Given the description of an element on the screen output the (x, y) to click on. 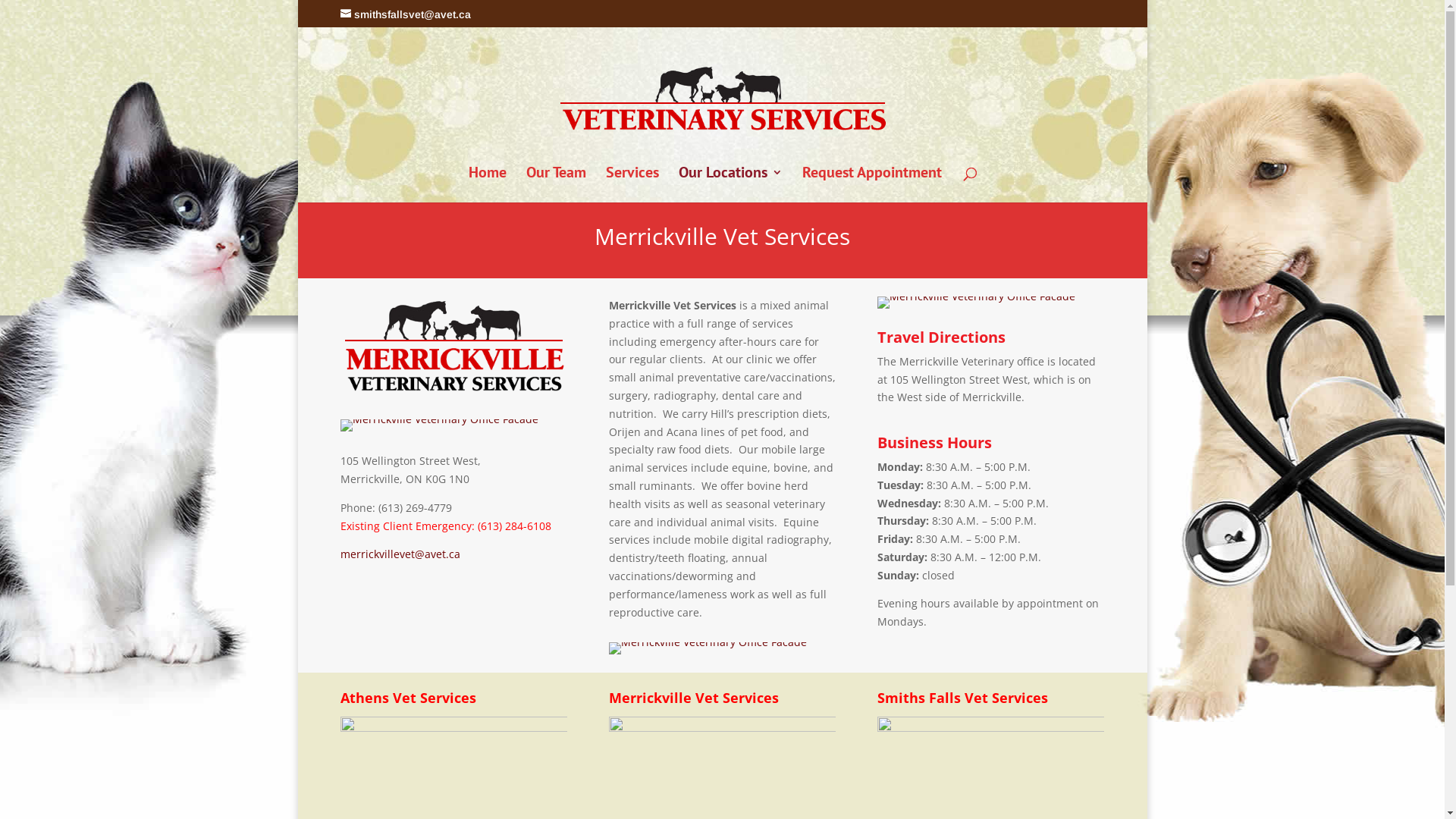
Merrickville Vet Services Element type: hover (452, 347)
Smiths Falls Vet Services Element type: hover (438, 425)
Merrickville Veterinary Office Facade Element type: hover (438, 418)
Smiths Falls Vet Services Element type: hover (976, 302)
merrickvillevet@avet.ca Element type: text (399, 553)
Smiths Falls Vet Services Element type: hover (707, 648)
Request Appointment Element type: text (871, 184)
Our Team Element type: text (556, 184)
Services Element type: text (631, 184)
Merrickville Veterinary Office Facade Element type: hover (976, 295)
Merrickville Veterinary Office Facade Element type: hover (707, 641)
Home Element type: text (487, 184)
Our Locations Element type: text (729, 184)
smithsfallsvet@avet.ca Element type: text (404, 13)
